Given the description of an element on the screen output the (x, y) to click on. 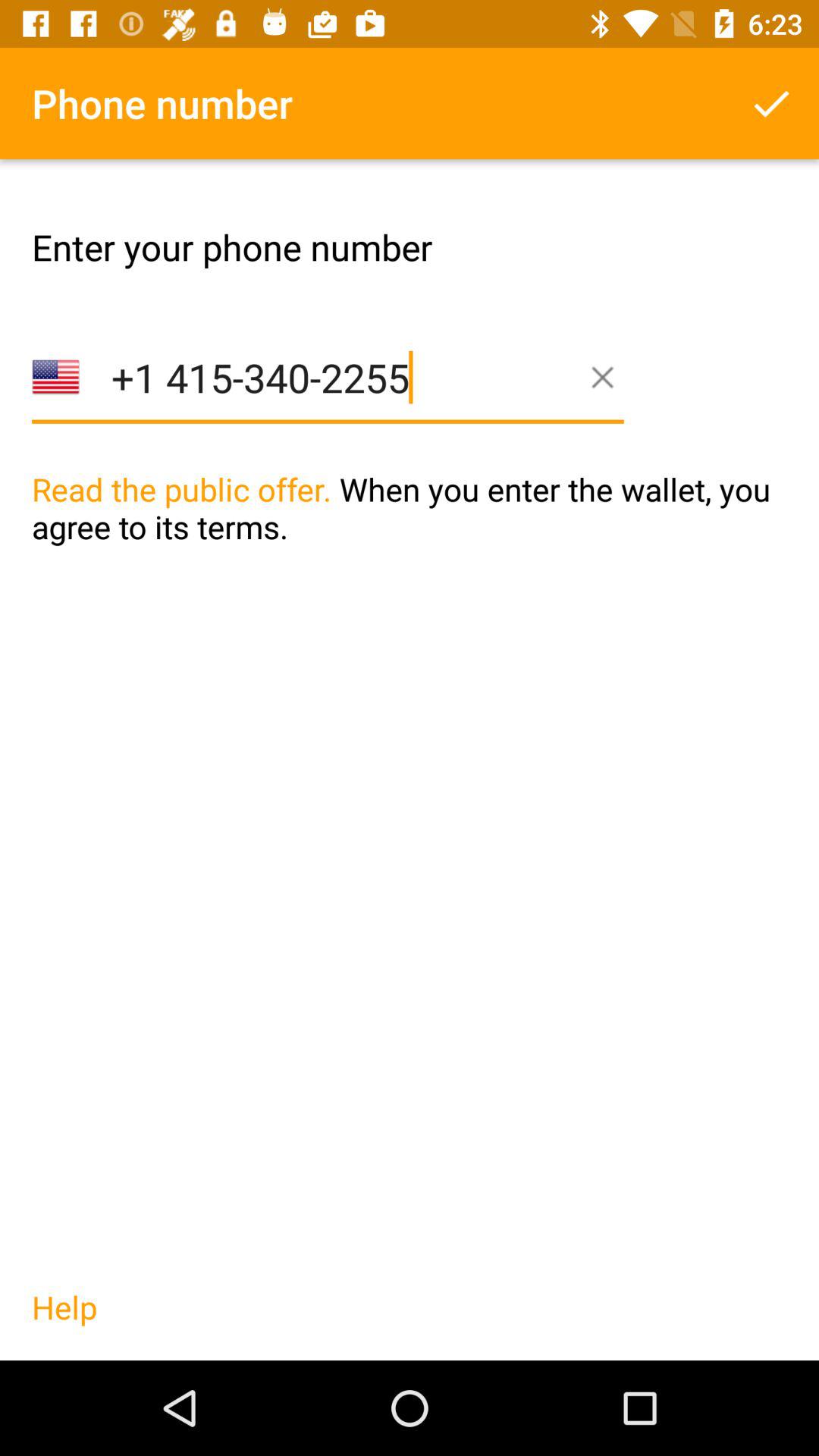
select the icon next to the phone number icon (771, 103)
